Given the description of an element on the screen output the (x, y) to click on. 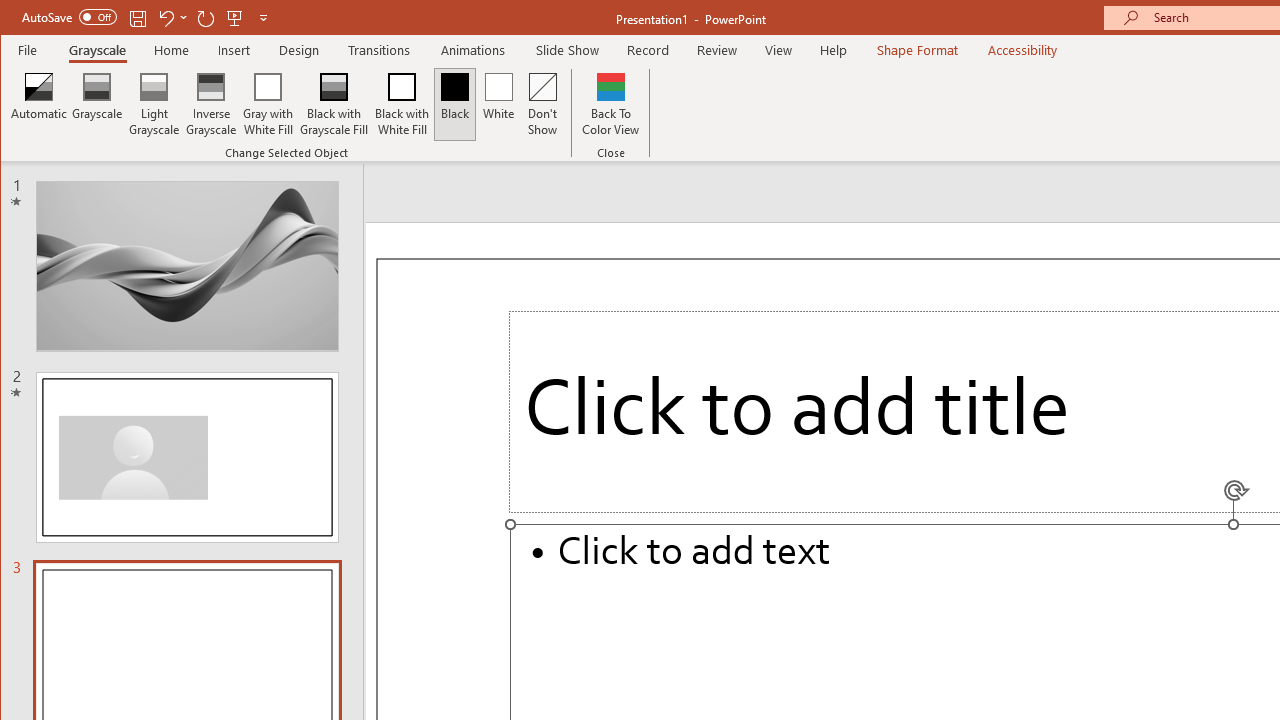
From Beginning (235, 17)
System (18, 18)
Help (833, 50)
Customize Quick Access Toolbar (263, 17)
Automatic (39, 104)
Quick Access Toolbar (146, 17)
Black with White Fill (402, 104)
Animations (473, 50)
